Given the description of an element on the screen output the (x, y) to click on. 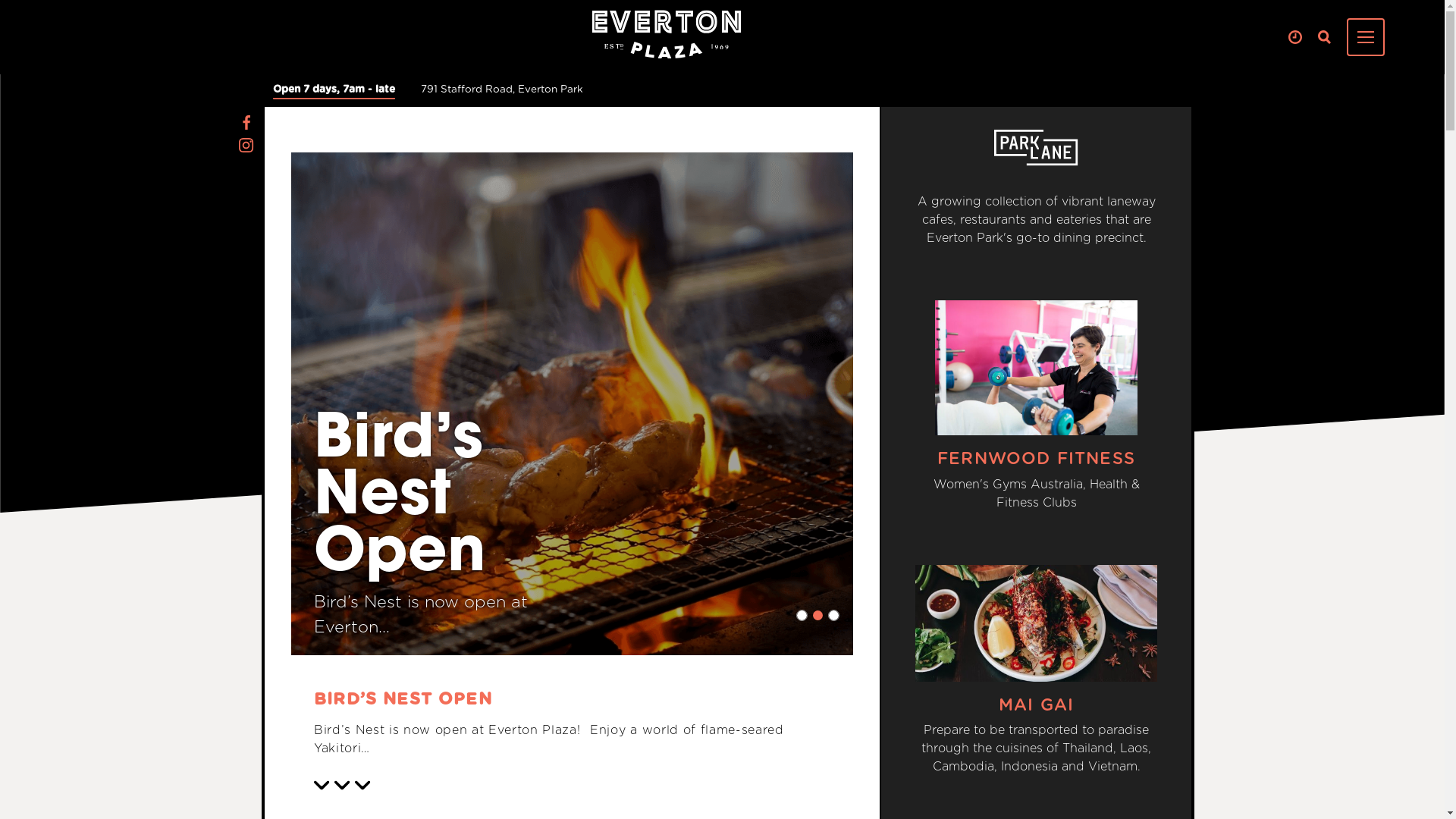
Back to Everton Plaza Home Page Element type: hover (665, 34)
Search Element type: text (1324, 37)
Clock Element type: text (1294, 37)
Some of the stores in Park Lane Element type: hover (1036, 147)
